Given the description of an element on the screen output the (x, y) to click on. 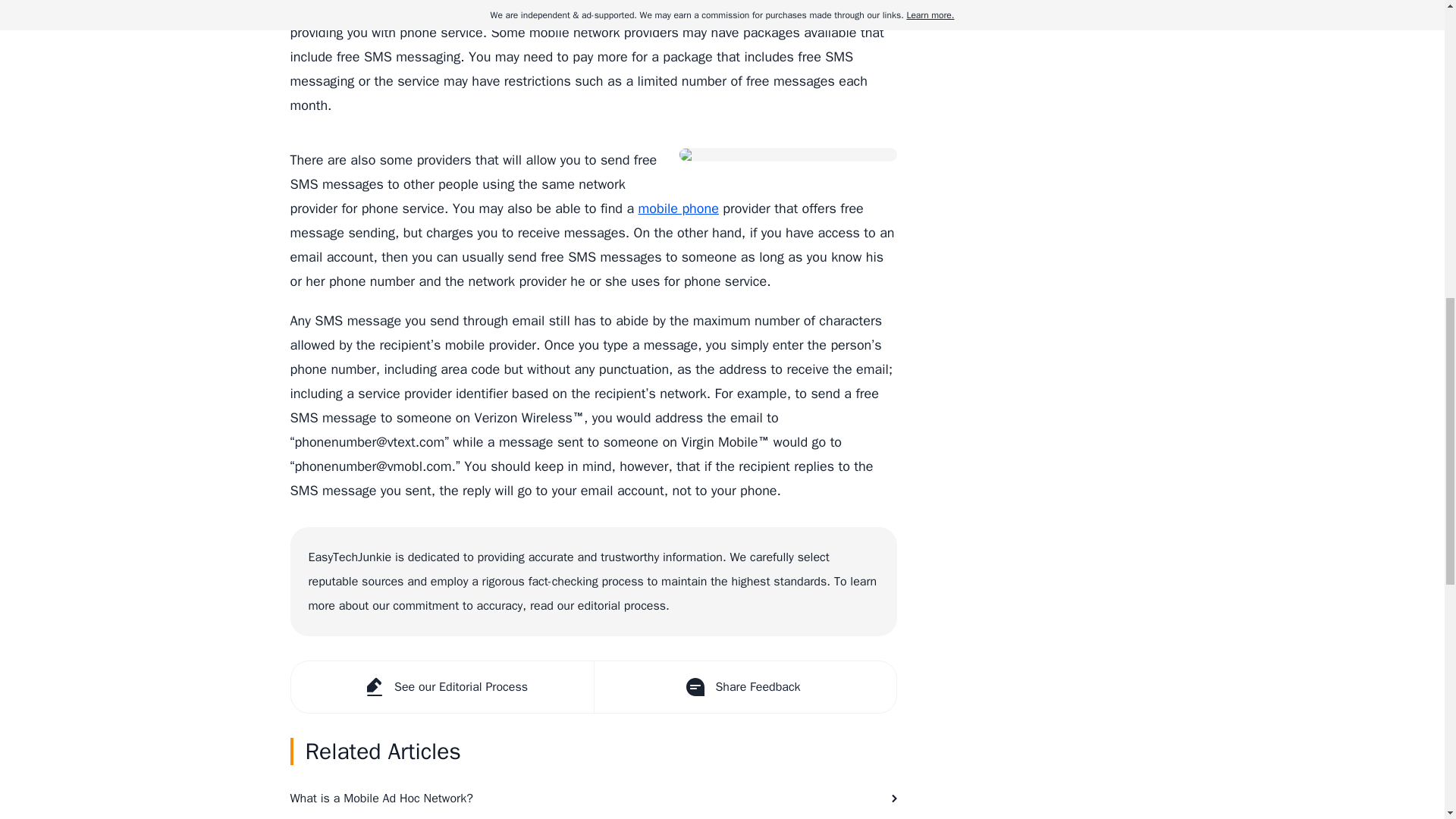
See our Editorial Process (442, 686)
What is a Mobile Ad Hoc Network? (592, 798)
mobile phone (679, 208)
Share Feedback (743, 686)
